Given the description of an element on the screen output the (x, y) to click on. 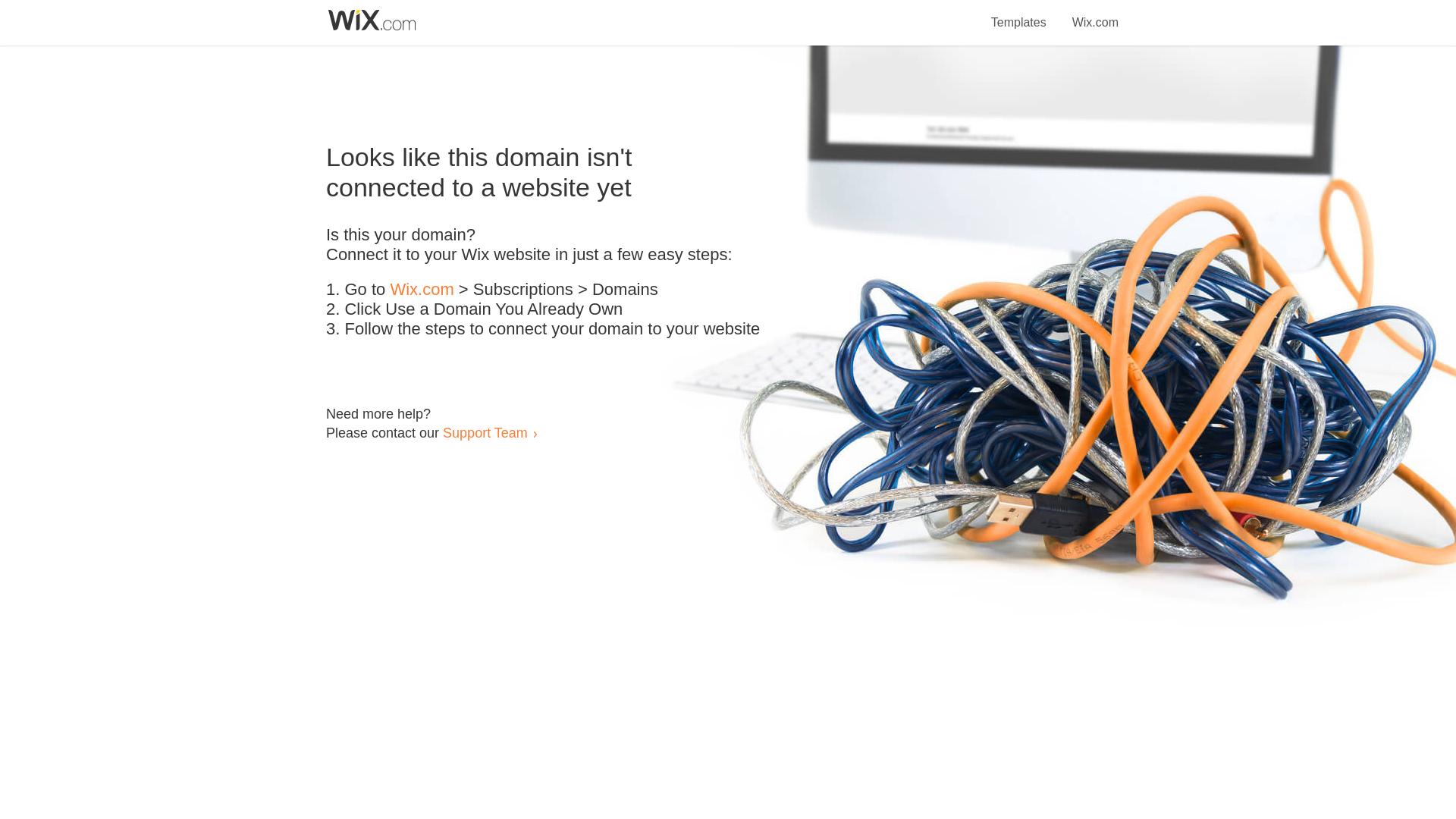
Support Team (484, 432)
Wix.com (1095, 14)
Templates (1018, 14)
Wix.com (421, 289)
